Given the description of an element on the screen output the (x, y) to click on. 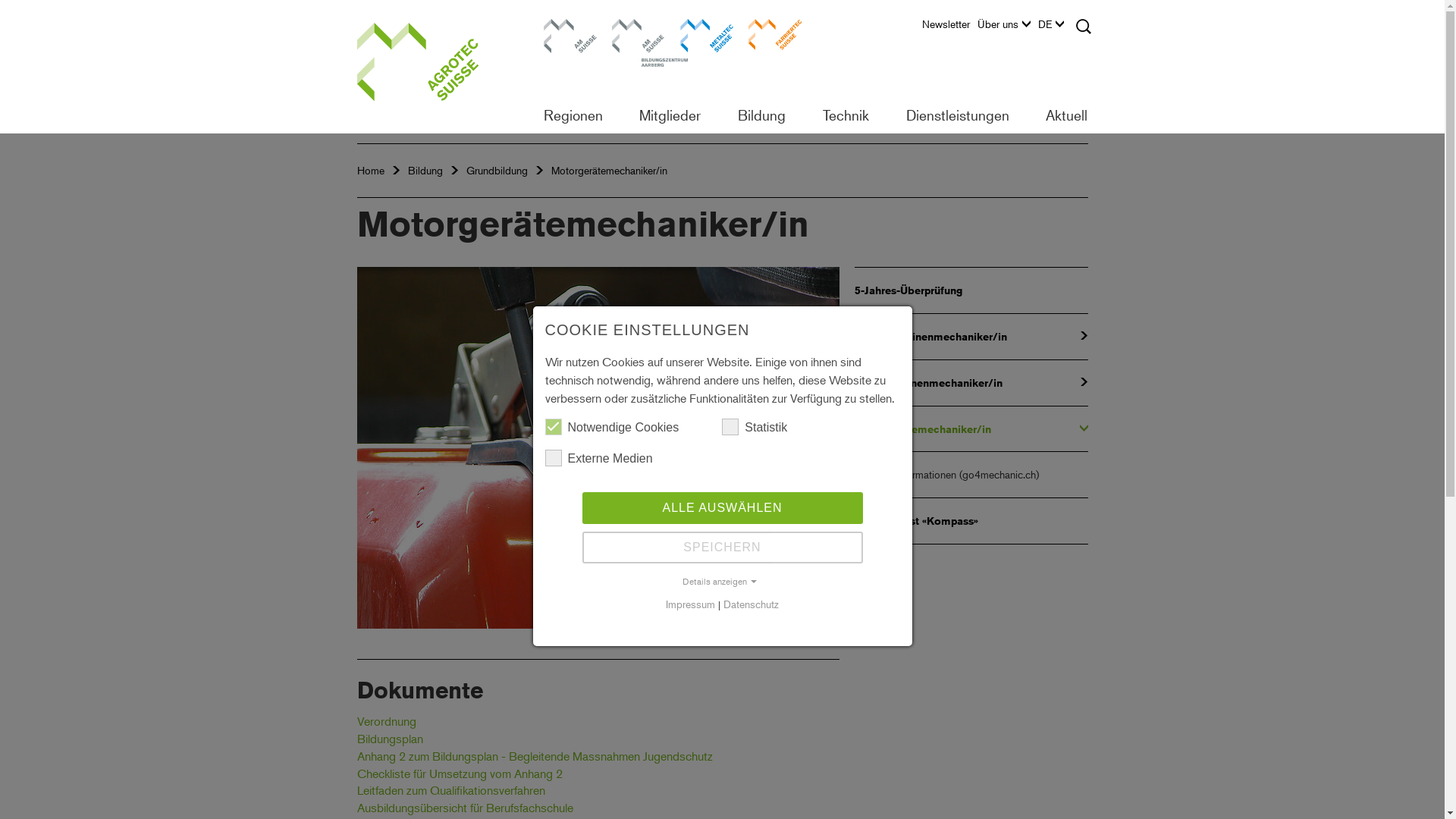
Home Element type: text (369, 169)
DE Element type: text (1053, 27)
Baumaschinenmechaniker/in Element type: text (970, 382)
Grundbildung Element type: text (496, 169)
Landmaschinenmechaniker/in Element type: text (970, 336)
Bildung Element type: text (424, 169)
Bildungsplan Element type: text (389, 738)
Berufsinformationen (go4mechanic.ch) Element type: text (970, 474)
Leitfaden zum Qualifikationsverfahren Element type: text (450, 789)
Metaltec Suisse Element type: text (705, 45)
Details anzeigen Element type: text (721, 581)
Agrotec Suisse Element type: hover (435, 67)
Verordnung Element type: text (385, 720)
SPEICHERN Element type: text (722, 546)
Farriertec Suisse Element type: text (773, 45)
Datenschutz Element type: text (750, 603)
AM Suisse Element type: text (569, 45)
Bildungszentrum Aarberg Element type: text (637, 45)
Newsletter Element type: text (949, 27)
Impressum Element type: text (690, 603)
